Given the description of an element on the screen output the (x, y) to click on. 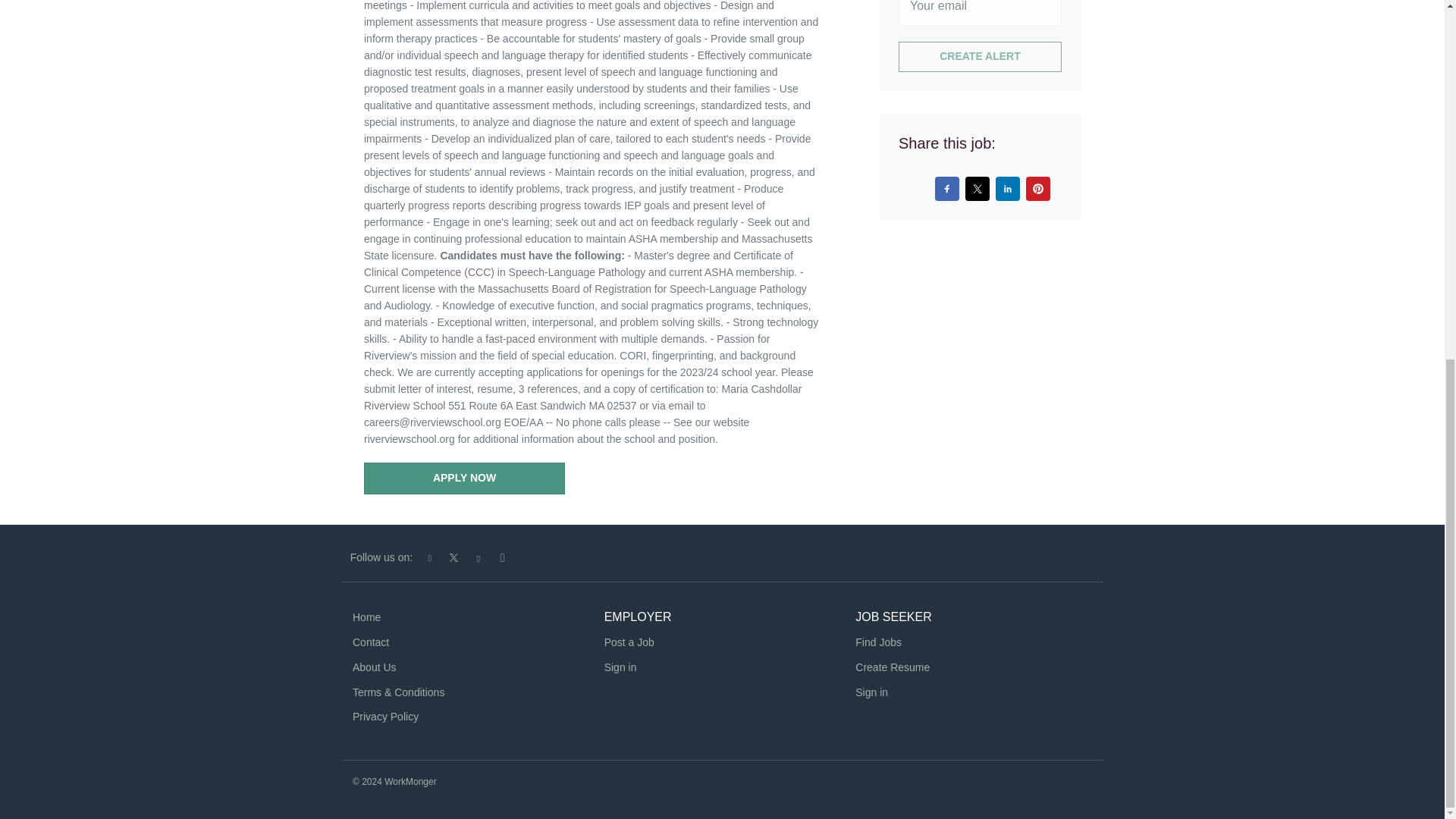
   Follow us on: (380, 557)
APPLY NOW (464, 478)
Create alert (979, 56)
Create alert (979, 56)
Home (366, 616)
